Given the description of an element on the screen output the (x, y) to click on. 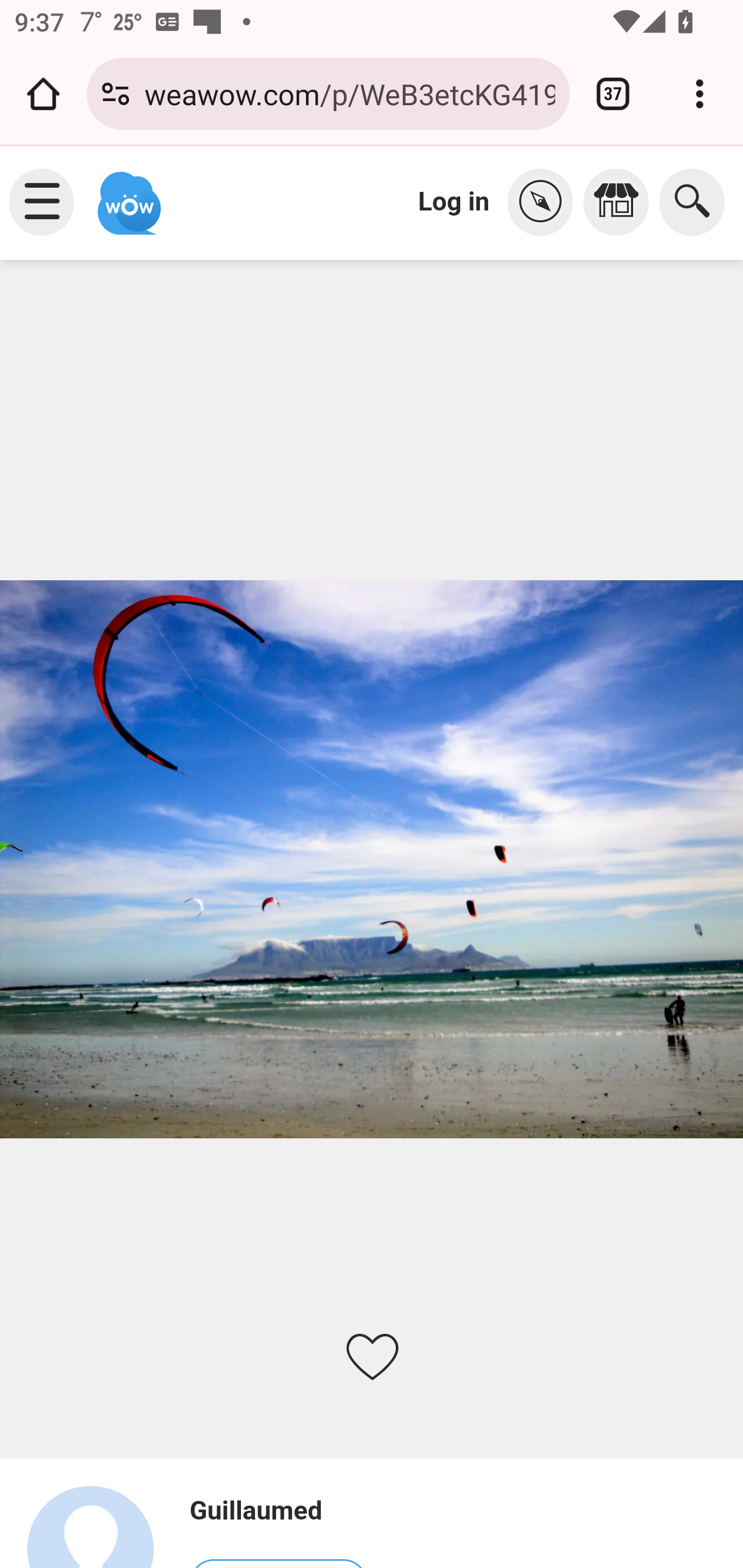
Open the home page (43, 93)
Connection is secure (115, 93)
Switch or close tabs (612, 93)
Customize and control Google Chrome (699, 93)
weawow.com/p/WeB3etcKG4190547 (349, 92)
Weawow (127, 194)
 (545, 201)
 (621, 201)
Log in (453, 201)
Guillaumed (99, 1525)
Guillaumed (277, 1510)
